Given the description of an element on the screen output the (x, y) to click on. 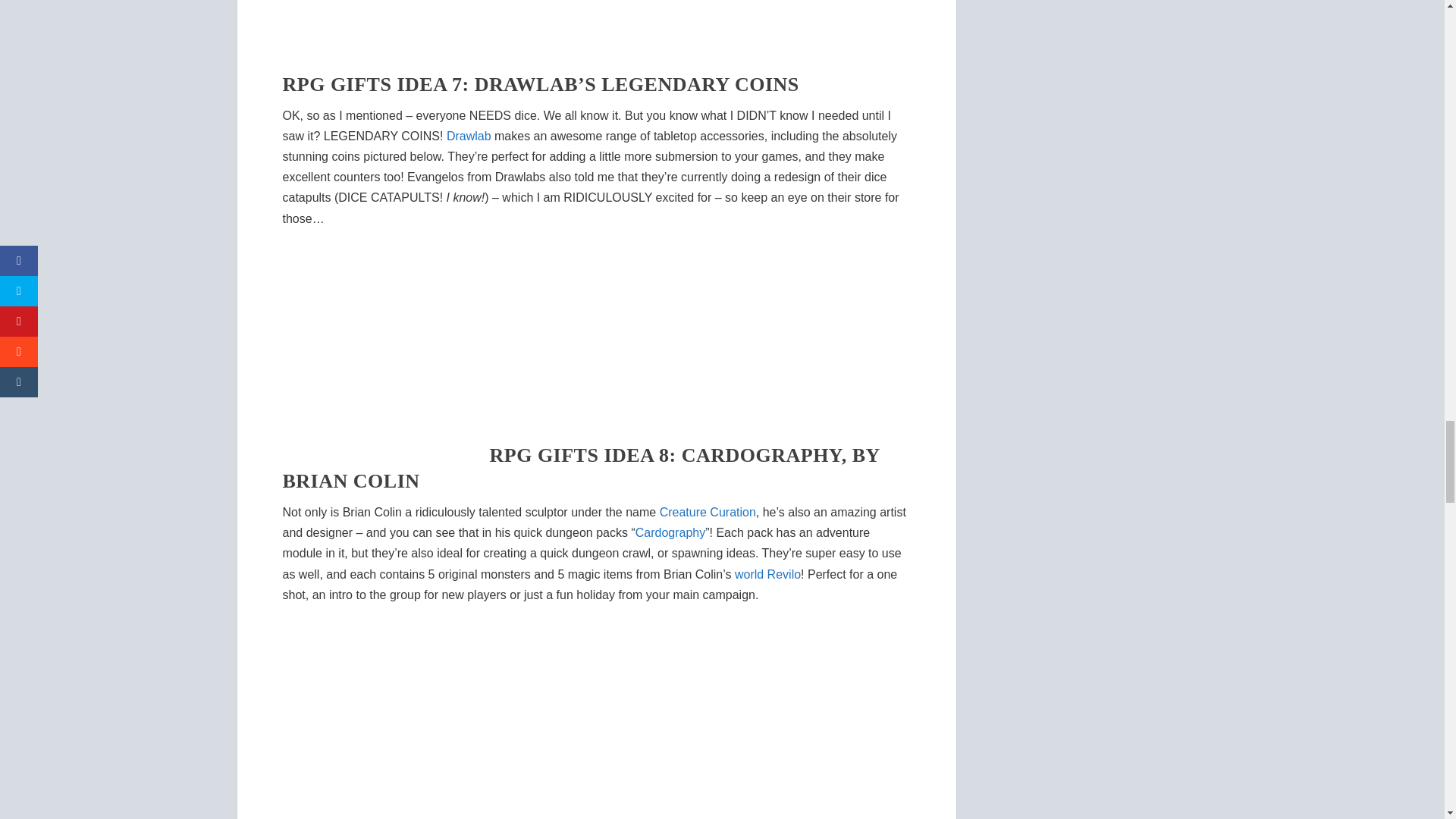
Creature Curation (707, 512)
Drawlab (469, 135)
Cardography (670, 532)
